Given the description of an element on the screen output the (x, y) to click on. 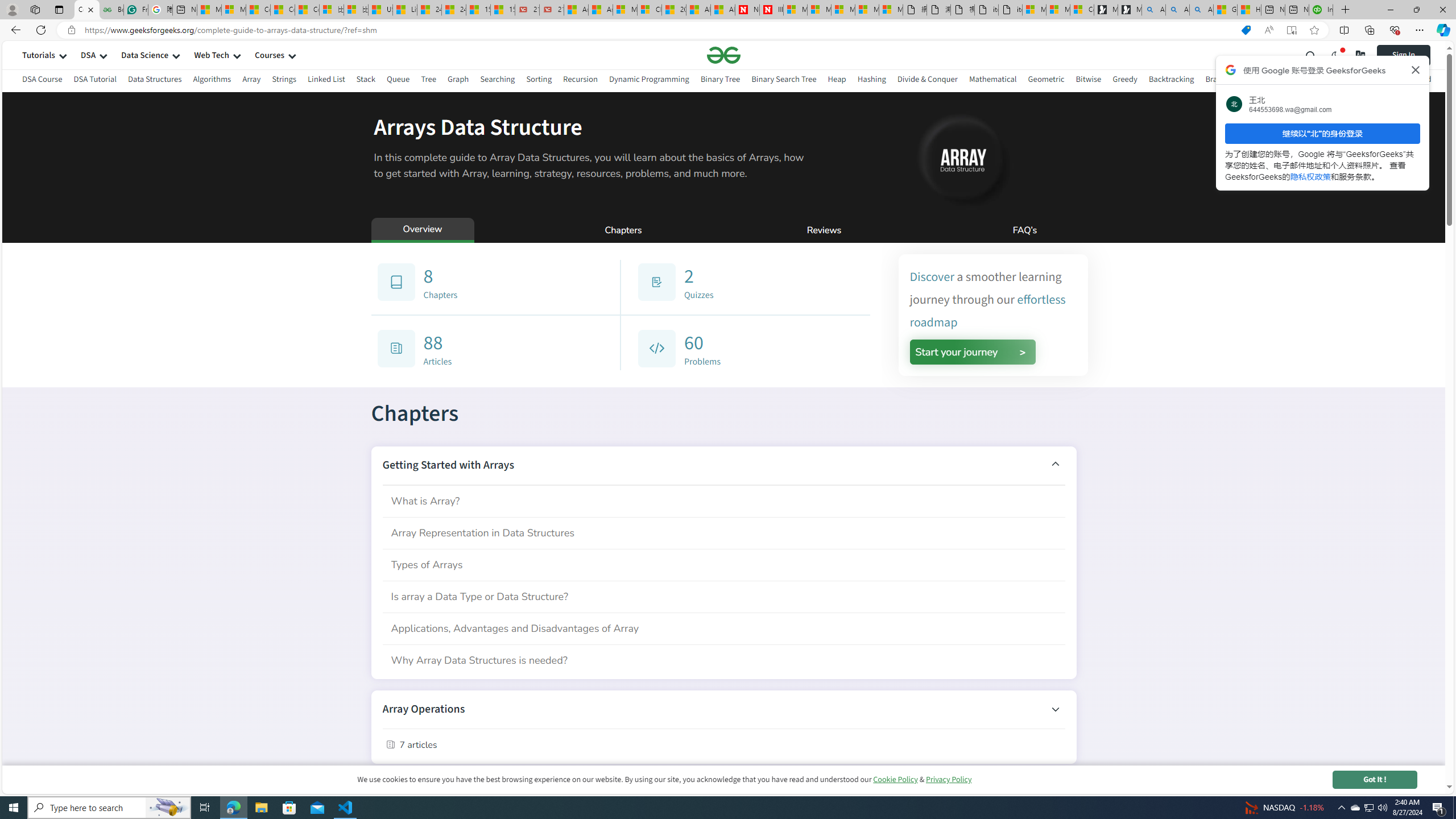
Linked List (325, 80)
Recursion (579, 80)
Algorithms (212, 79)
Randomized (1409, 79)
Binary Search Tree (783, 79)
Applications, Advantages and Disadvantages of Array (723, 628)
